Given the description of an element on the screen output the (x, y) to click on. 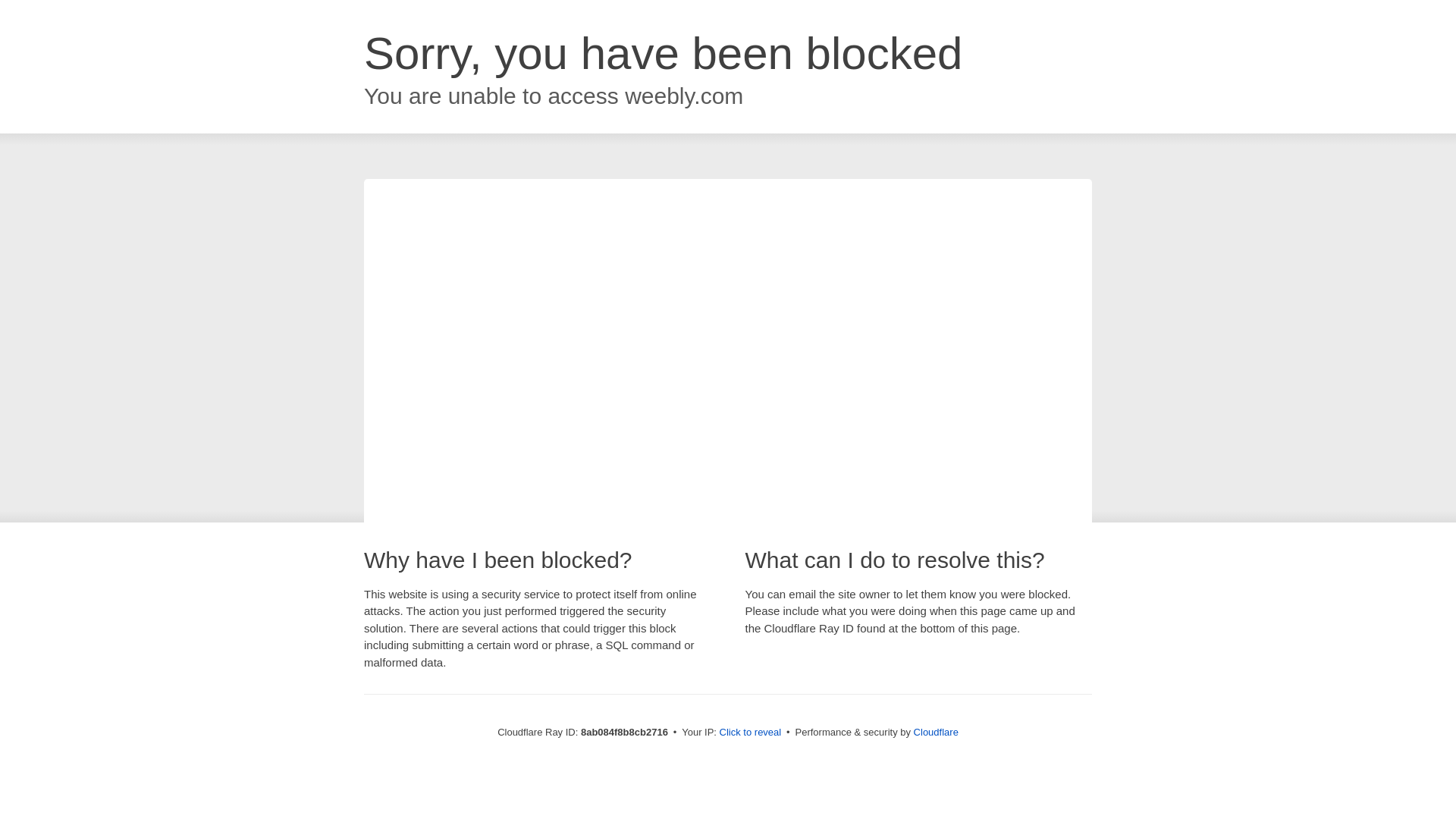
Click to reveal (750, 732)
Cloudflare (936, 731)
